Given the description of an element on the screen output the (x, y) to click on. 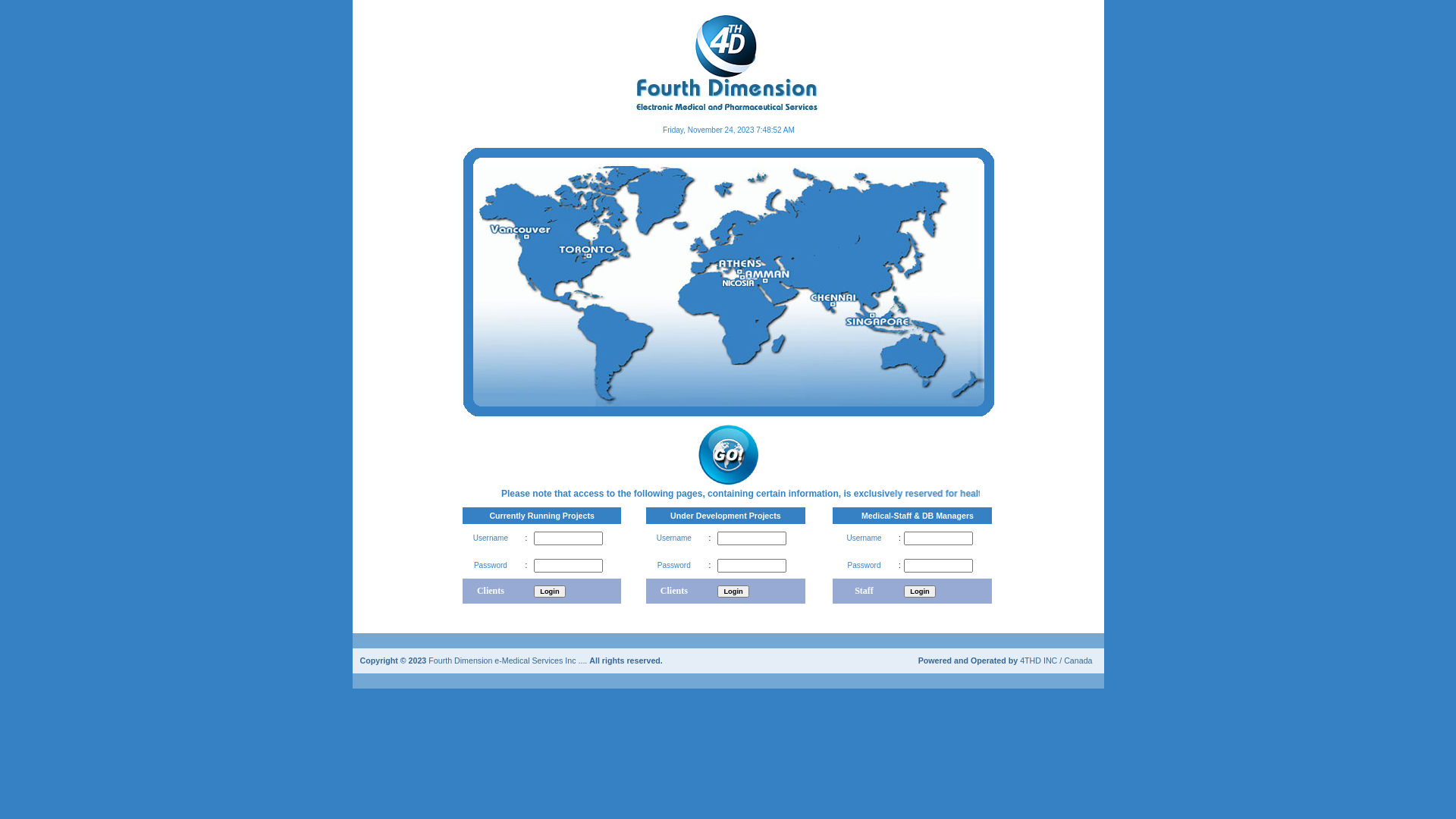
Login Element type: text (732, 591)
4THD INC / Canada Element type: text (1055, 658)
Fourth Dimension e-Medical Services Inc .... Element type: text (508, 658)
Login Element type: text (919, 591)
All rights reserved. Element type: text (625, 658)
Login Element type: text (548, 591)
